Given the description of an element on the screen output the (x, y) to click on. 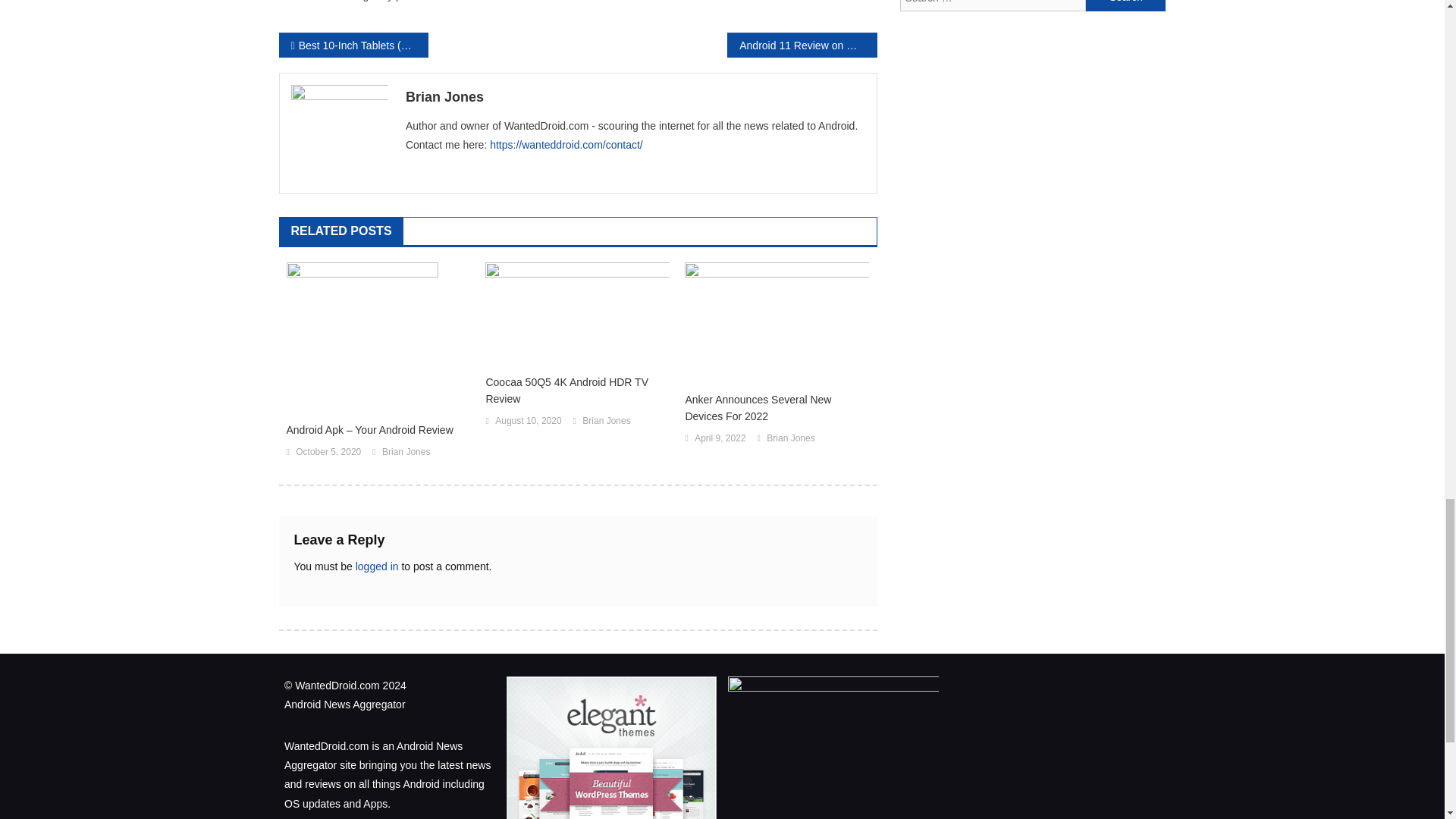
Coocaa 50Q5 4K Android HDR TV Review (576, 390)
October 5, 2020 (328, 452)
Search (1126, 5)
Brian Jones (405, 452)
Brian Jones (635, 96)
Brian Jones (606, 421)
Android 11 Review on OnePlus 8 Pro (801, 44)
August 10, 2020 (527, 421)
Search (1126, 5)
Android Addicts (482, 0)
Anker Announces Several New Devices For 2022 (776, 408)
